Given the description of an element on the screen output the (x, y) to click on. 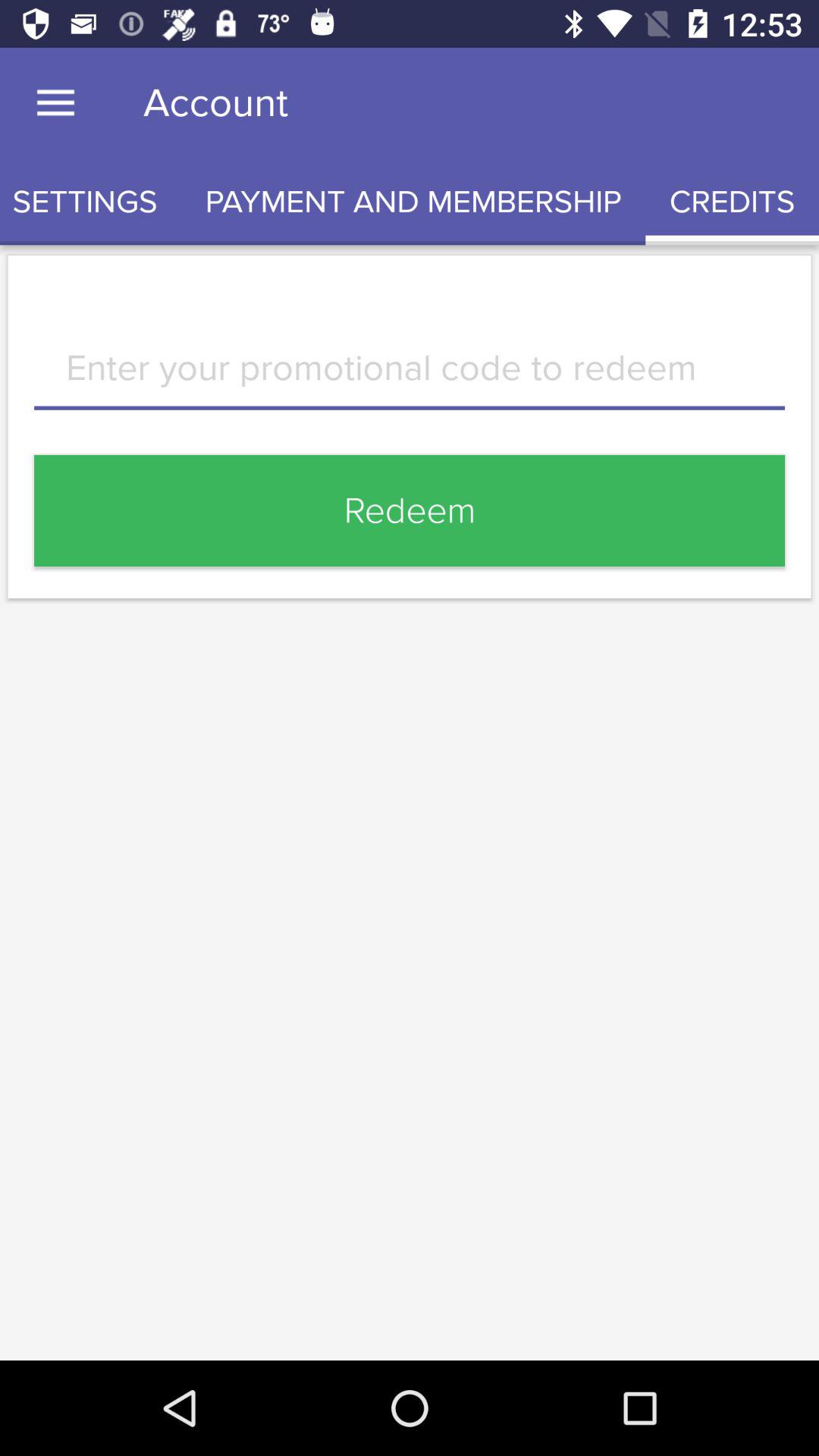
enter promo codr (409, 379)
